Given the description of an element on the screen output the (x, y) to click on. 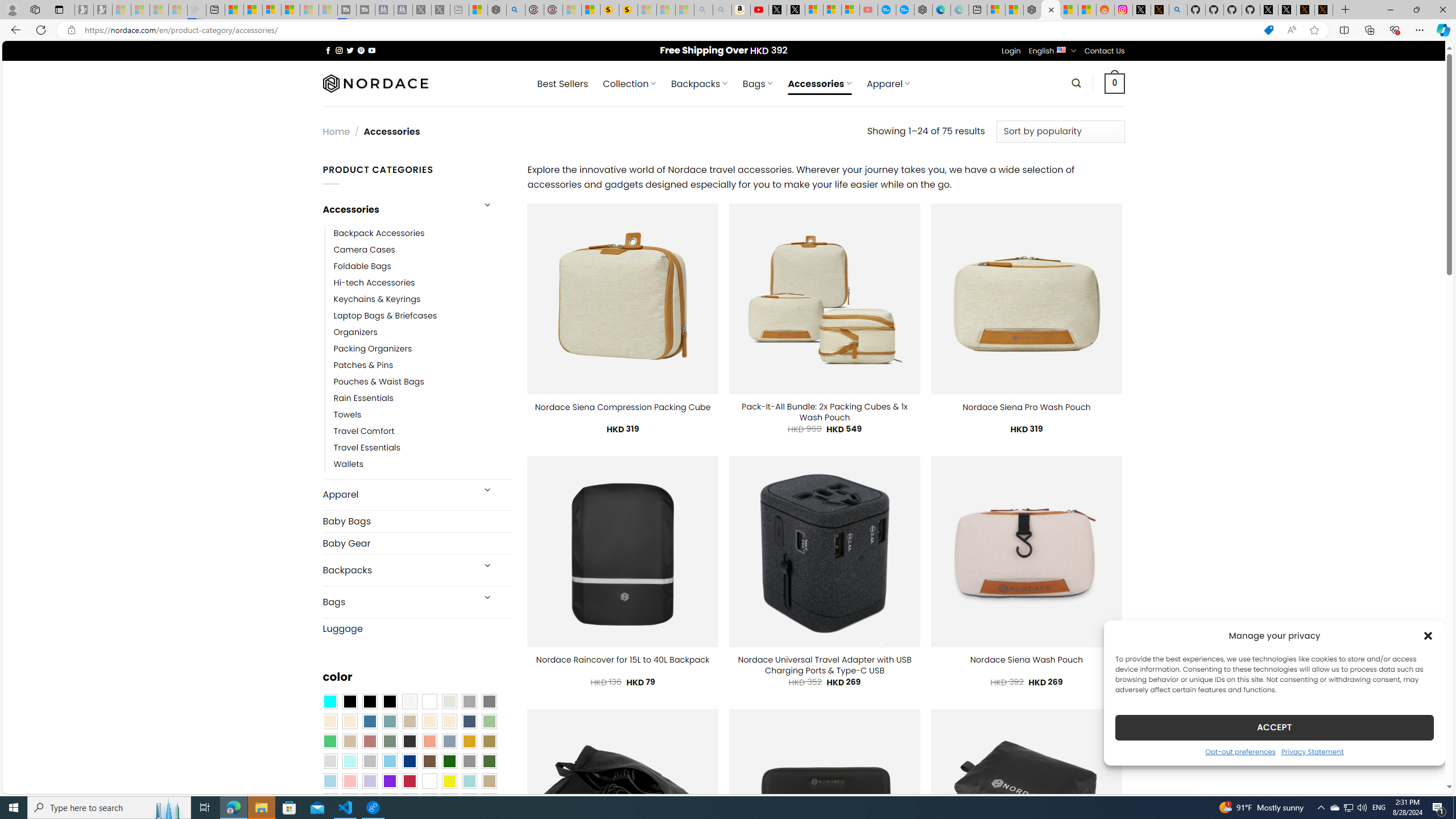
This site has coupons! Shopping in Microsoft Edge (1268, 29)
help.x.com | 524: A timeout occurred (1159, 9)
Blue Sage (389, 721)
Contact Us (1104, 50)
Baby Gear (416, 542)
